Given the description of an element on the screen output the (x, y) to click on. 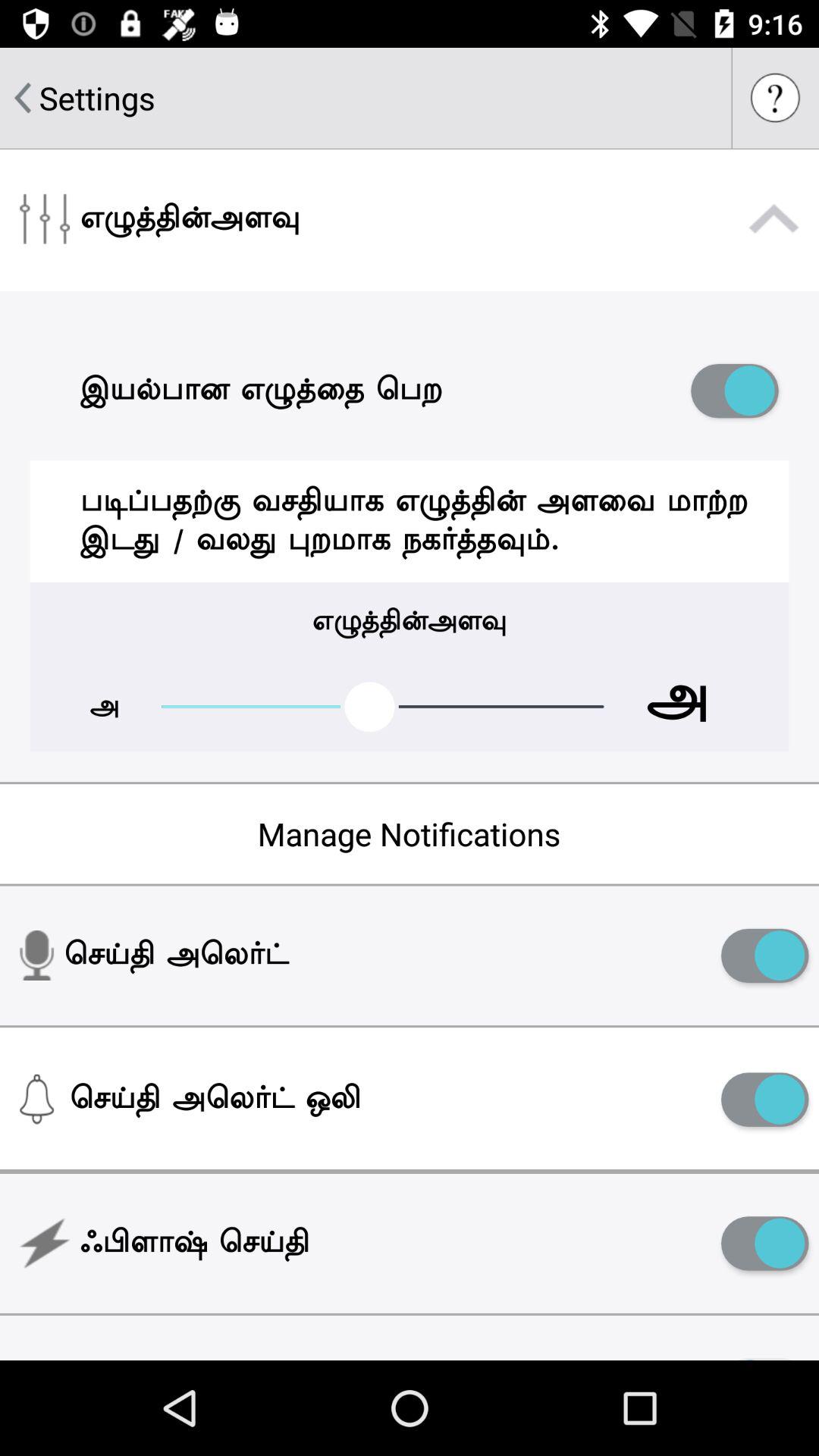
toggle notifications option (764, 1099)
